Given the description of an element on the screen output the (x, y) to click on. 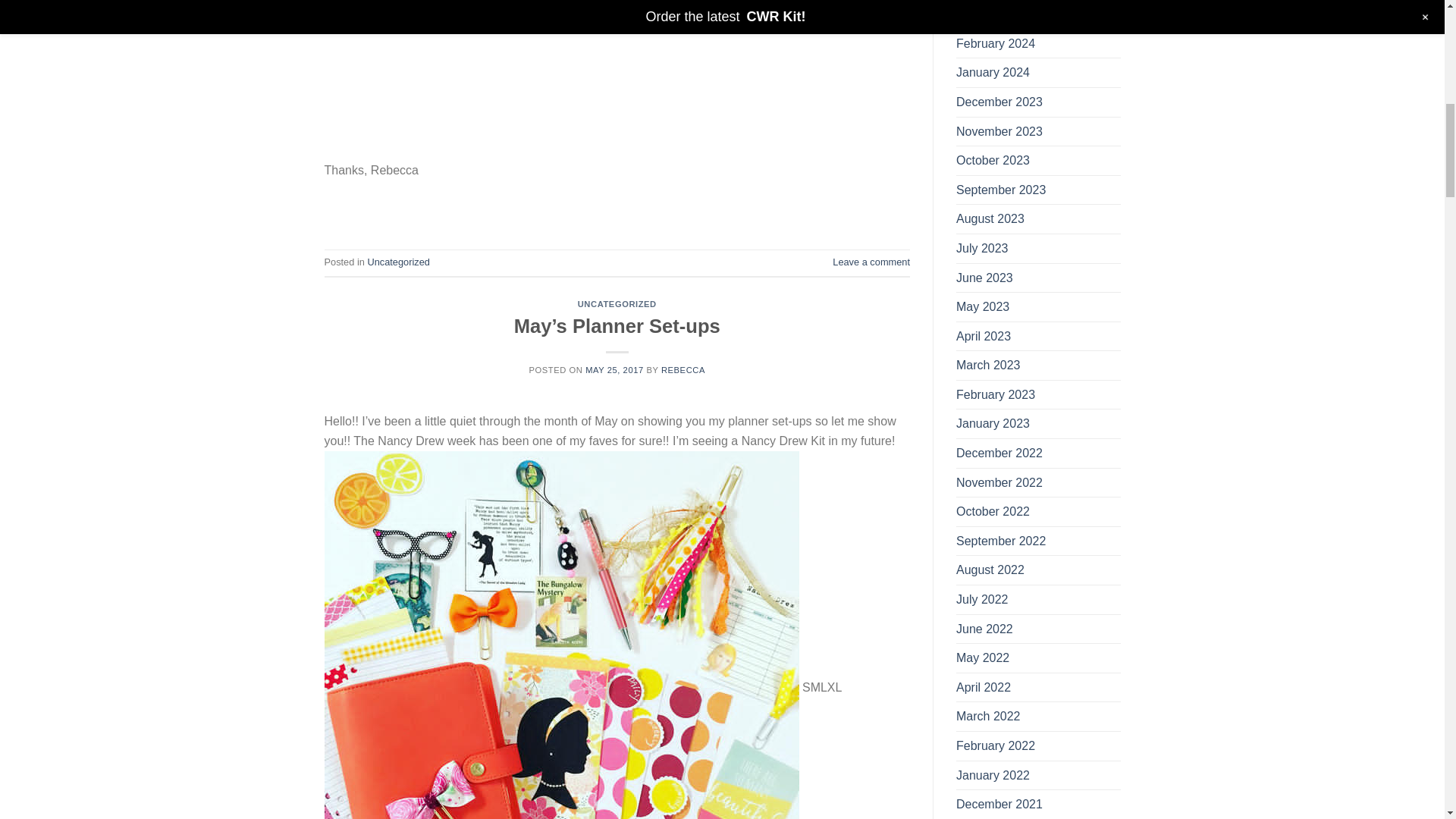
UNCATEGORIZED (617, 303)
REBECCA (682, 369)
MAY 25, 2017 (614, 369)
Leave a comment (871, 261)
Click and drag to move (330, 100)
Uncategorized (397, 261)
